Given the description of an element on the screen output the (x, y) to click on. 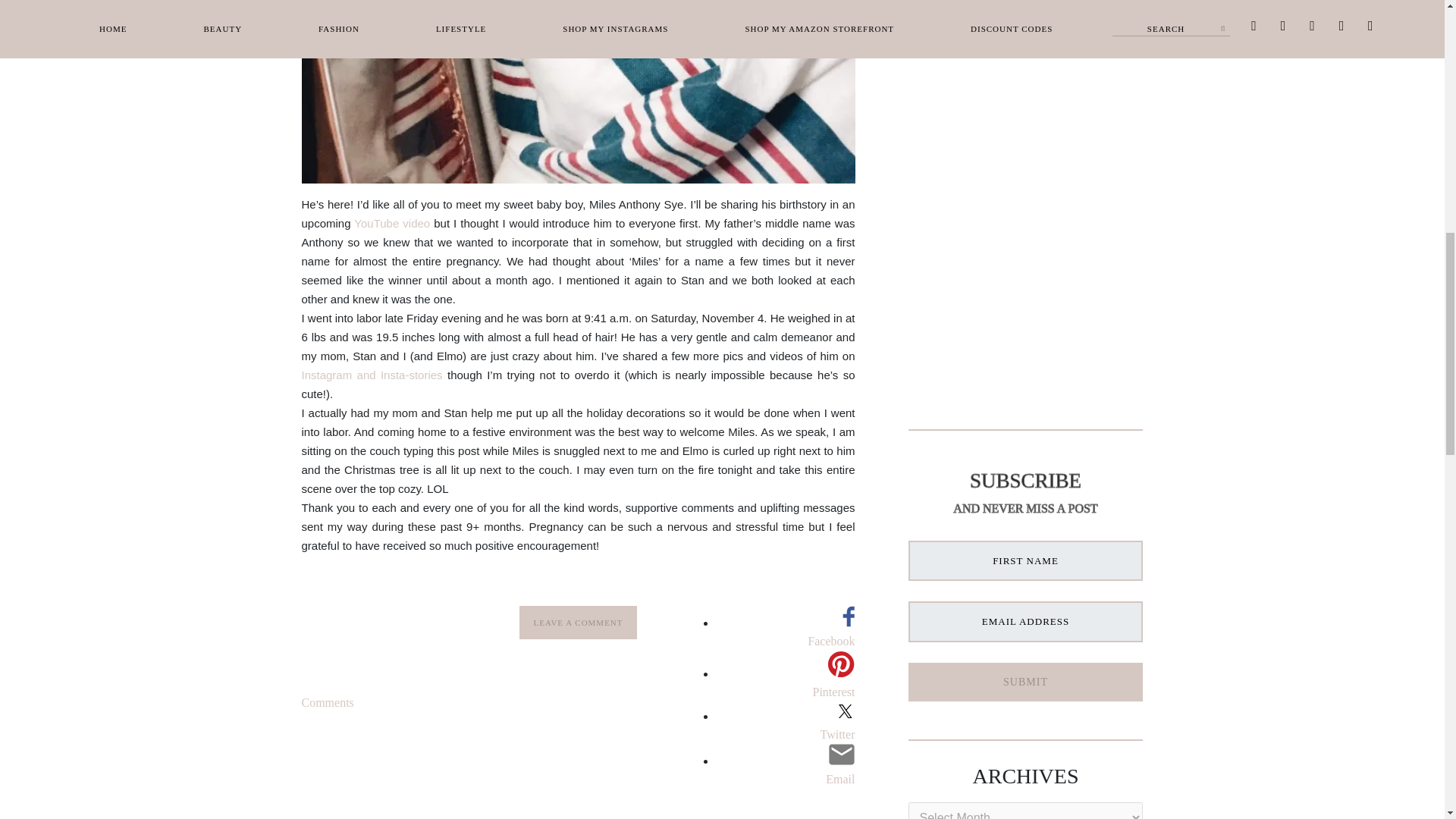
Facebook (785, 641)
LEAVE A COMMENT (577, 622)
submit (1025, 681)
Twitter (785, 734)
Email (785, 779)
Facebook (785, 633)
Pinterest (785, 692)
Comments (327, 702)
Instagram and Insta-stories (371, 374)
Pinterest (785, 684)
YouTube video (391, 223)
